Given the description of an element on the screen output the (x, y) to click on. 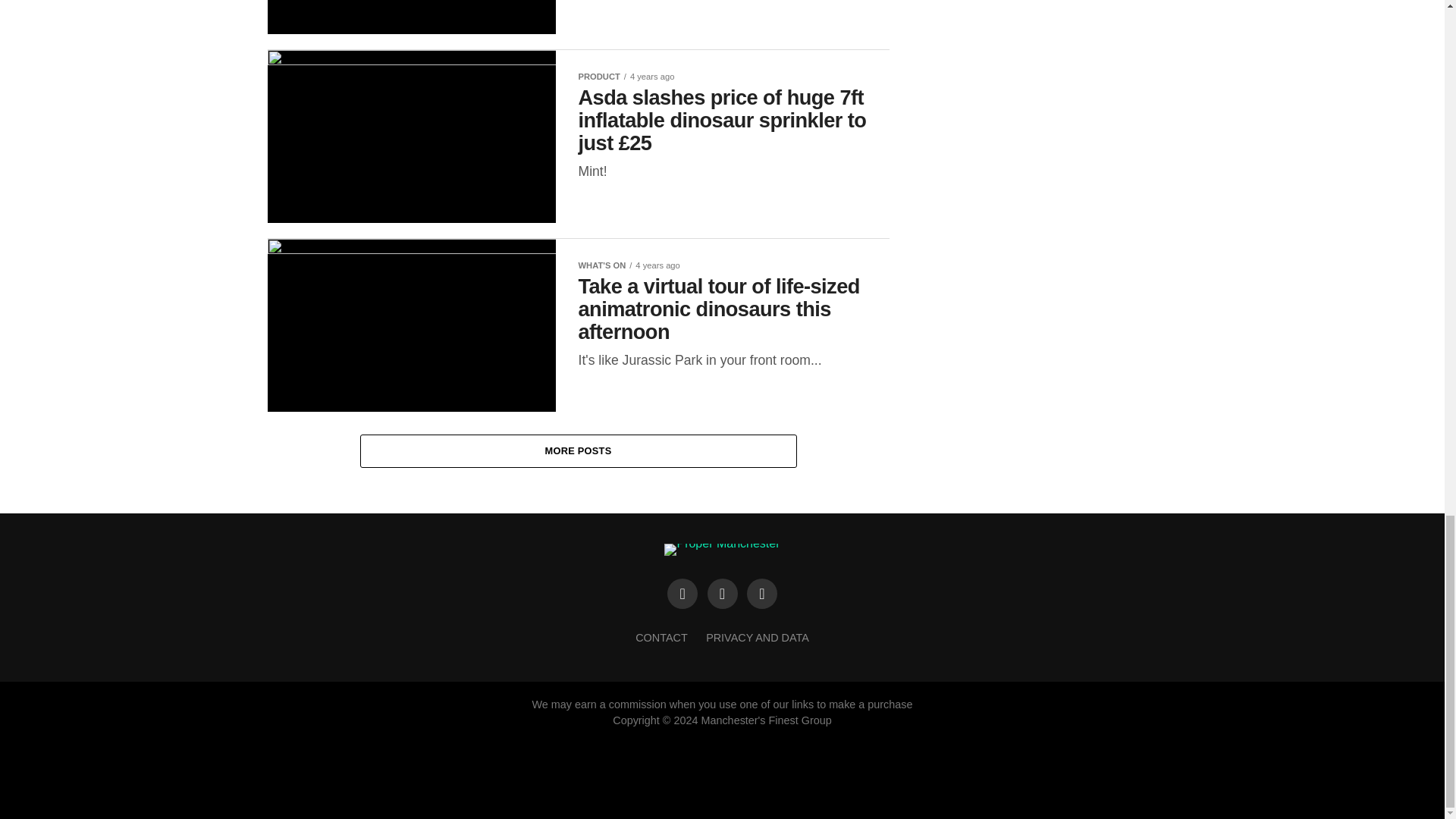
PRIVACY AND DATA (757, 637)
CONTACT (660, 637)
MORE POSTS (577, 451)
